Given the description of an element on the screen output the (x, y) to click on. 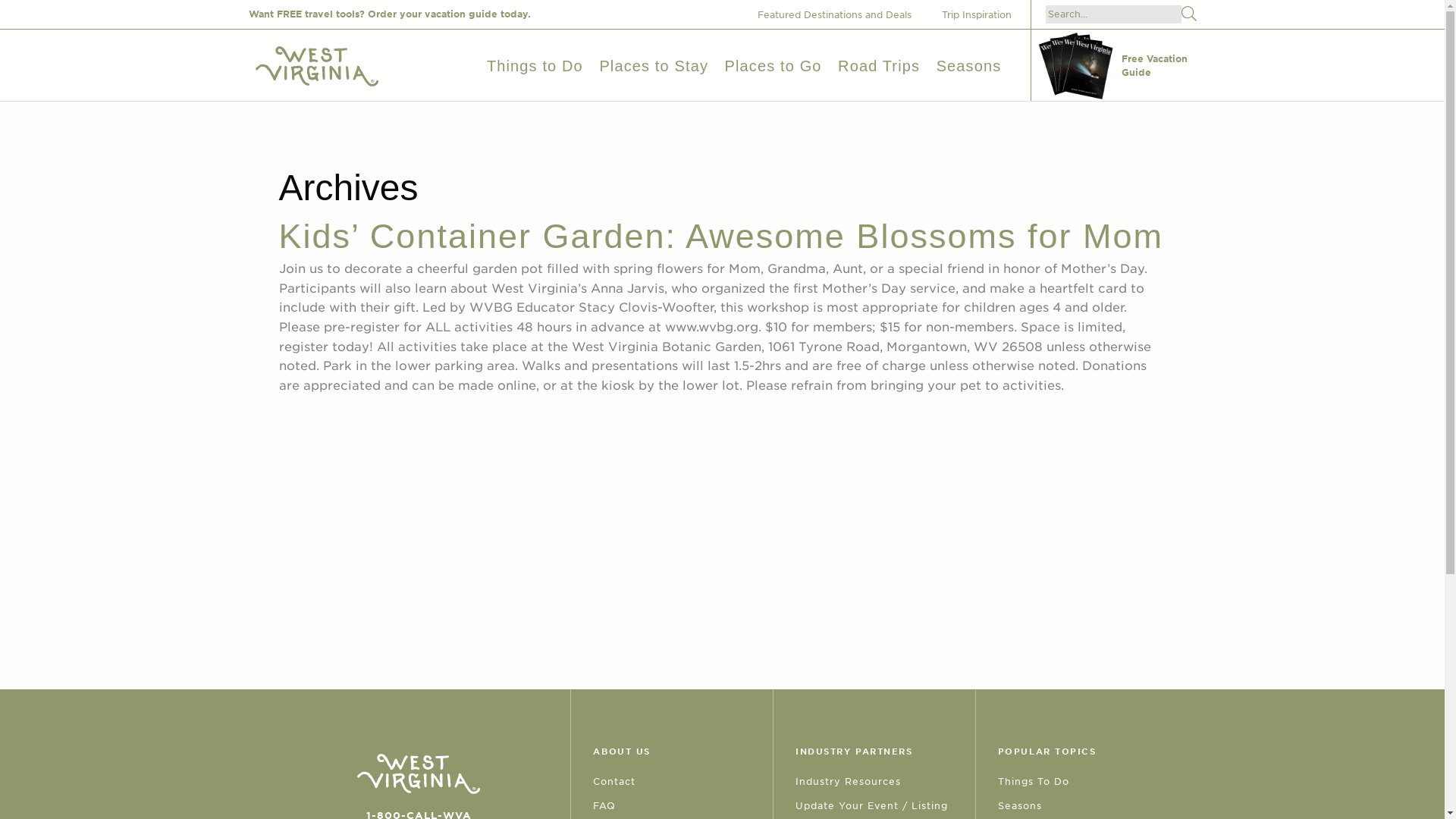
Road Trips (879, 65)
Seasons (968, 65)
Places to Go (773, 65)
Things to Do (534, 65)
Featured Destinations and Deals (839, 14)
Trip Inspiration (982, 14)
Free Vacation Guide (1116, 65)
Want FREE travel tools? Order your vacation guide today. (389, 14)
Places to Stay (652, 65)
